Given the description of an element on the screen output the (x, y) to click on. 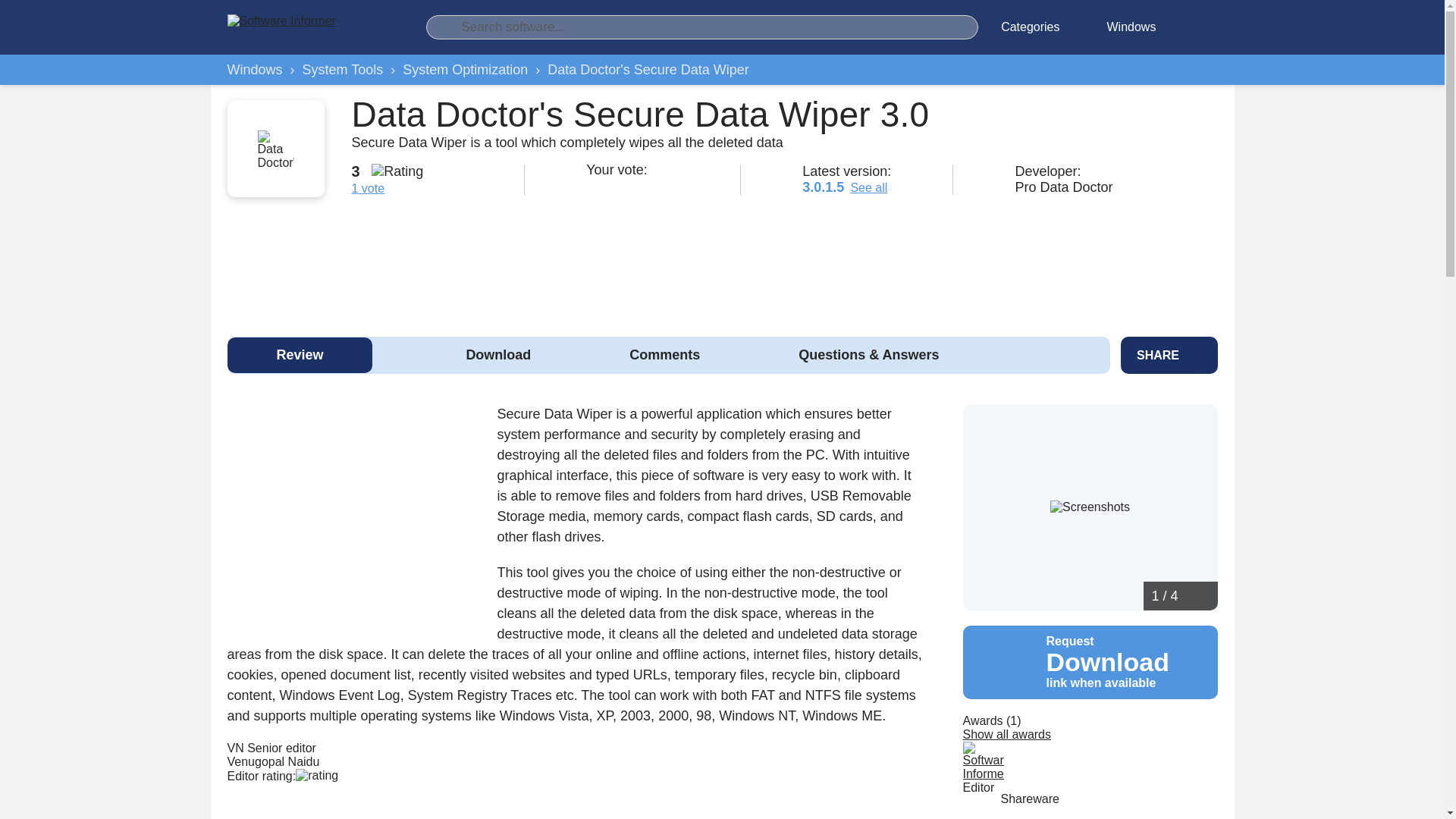
Download (497, 355)
Review (299, 355)
See all (868, 186)
System Tools (343, 69)
1 (592, 184)
Data Doctor's Secure Data Wiper (648, 69)
2 (611, 184)
4 (649, 184)
Windows (254, 69)
